Given the description of an element on the screen output the (x, y) to click on. 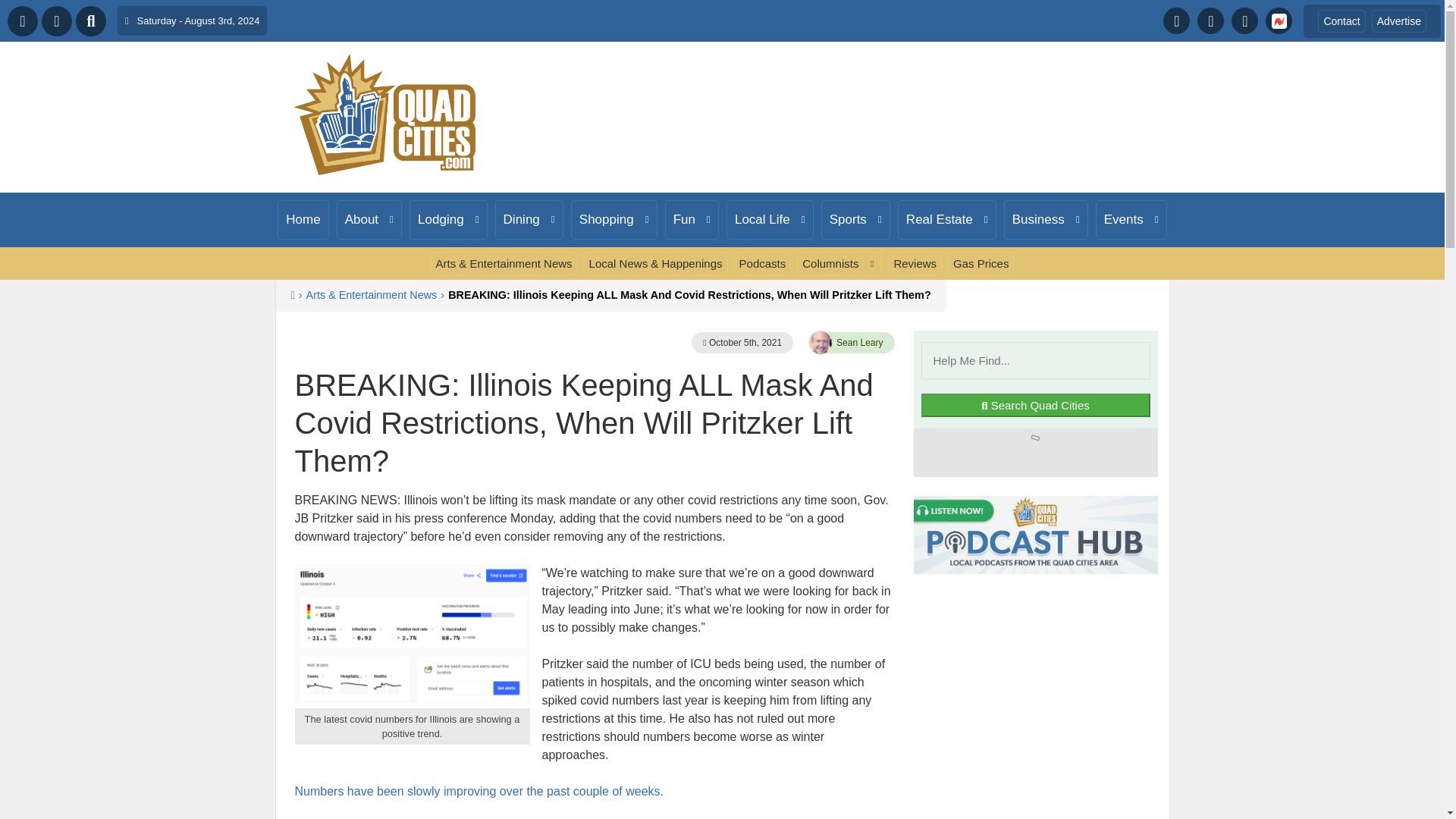
X-twitter (1210, 20)
Lodging (448, 219)
Advertise (1398, 20)
Dining (529, 219)
Contact (1341, 20)
Facebook (1176, 20)
Find us on NewsBreak App! (1278, 20)
About (368, 219)
QuadCities.com (384, 114)
Home (303, 219)
